Given the description of an element on the screen output the (x, y) to click on. 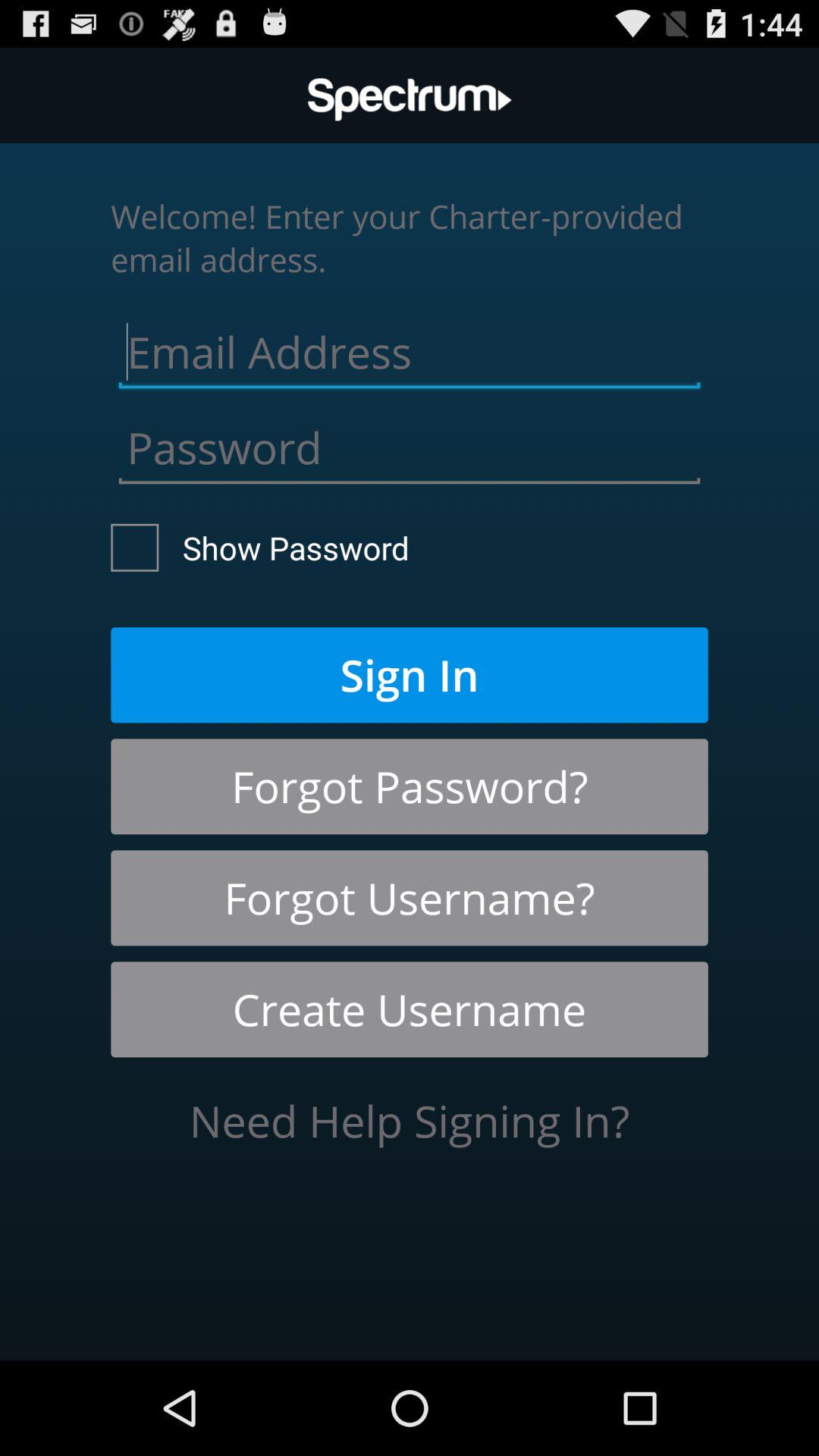
select icon above the sign in icon (259, 547)
